Given the description of an element on the screen output the (x, y) to click on. 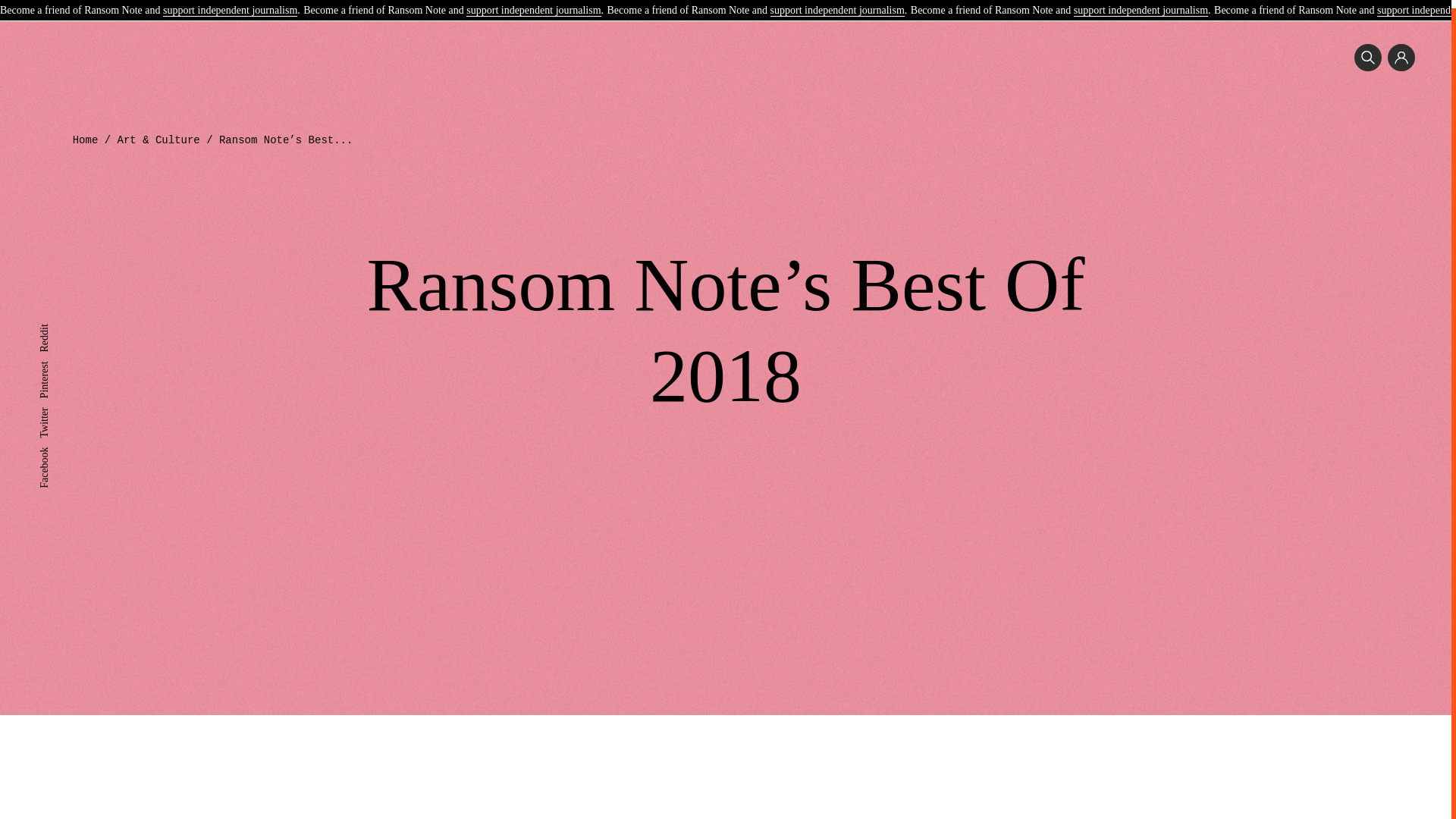
support independent journalism (532, 4)
Pinterest (57, 358)
Facebook (59, 444)
support independent journalism (837, 4)
Home (85, 140)
support independent journalism (1141, 4)
Twitter (53, 404)
Reddit (52, 321)
support independent journalism (230, 4)
